Given the description of an element on the screen output the (x, y) to click on. 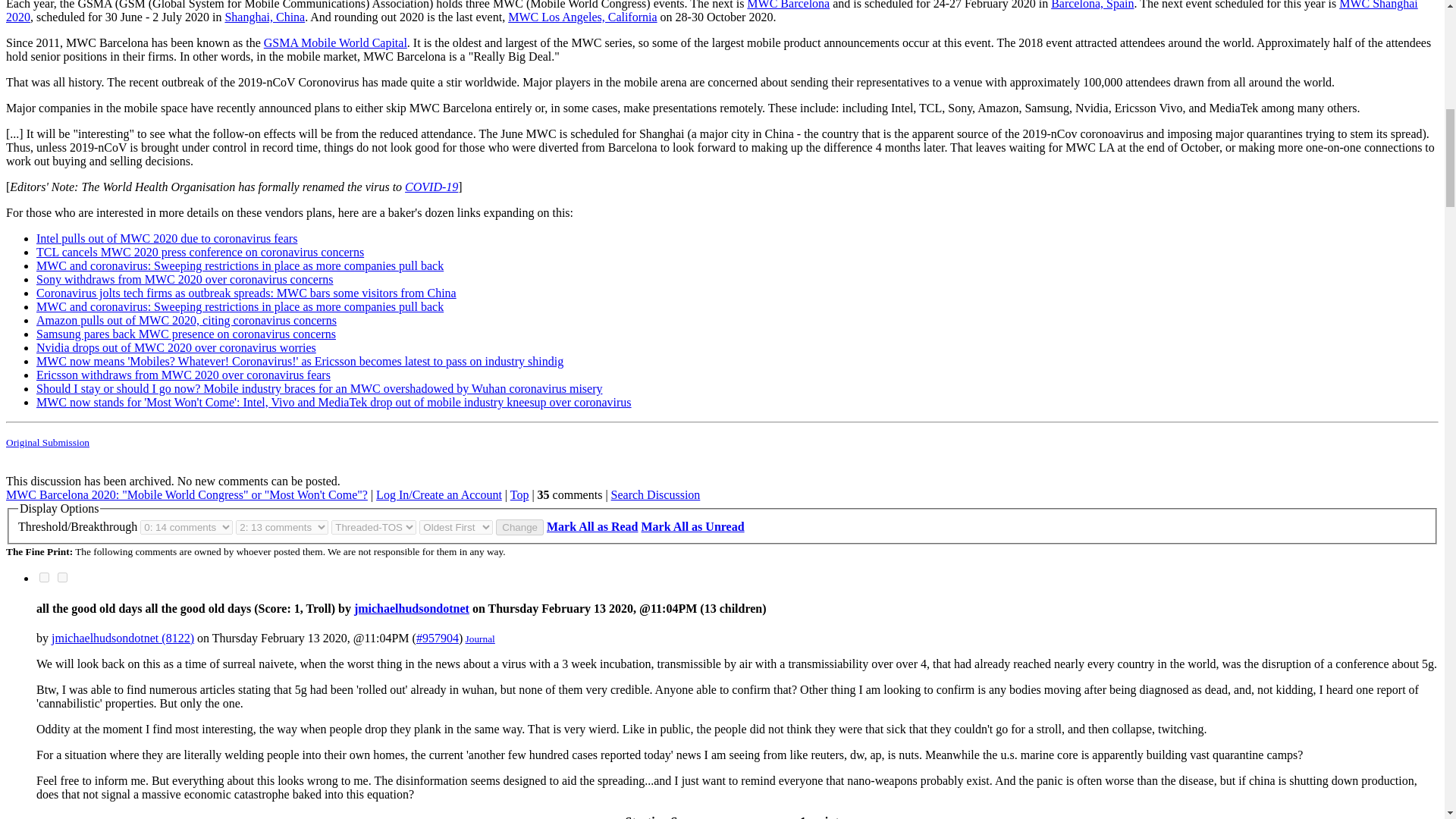
Change (519, 527)
on (62, 577)
on (44, 577)
MWC Barcelona (787, 4)
